Given the description of an element on the screen output the (x, y) to click on. 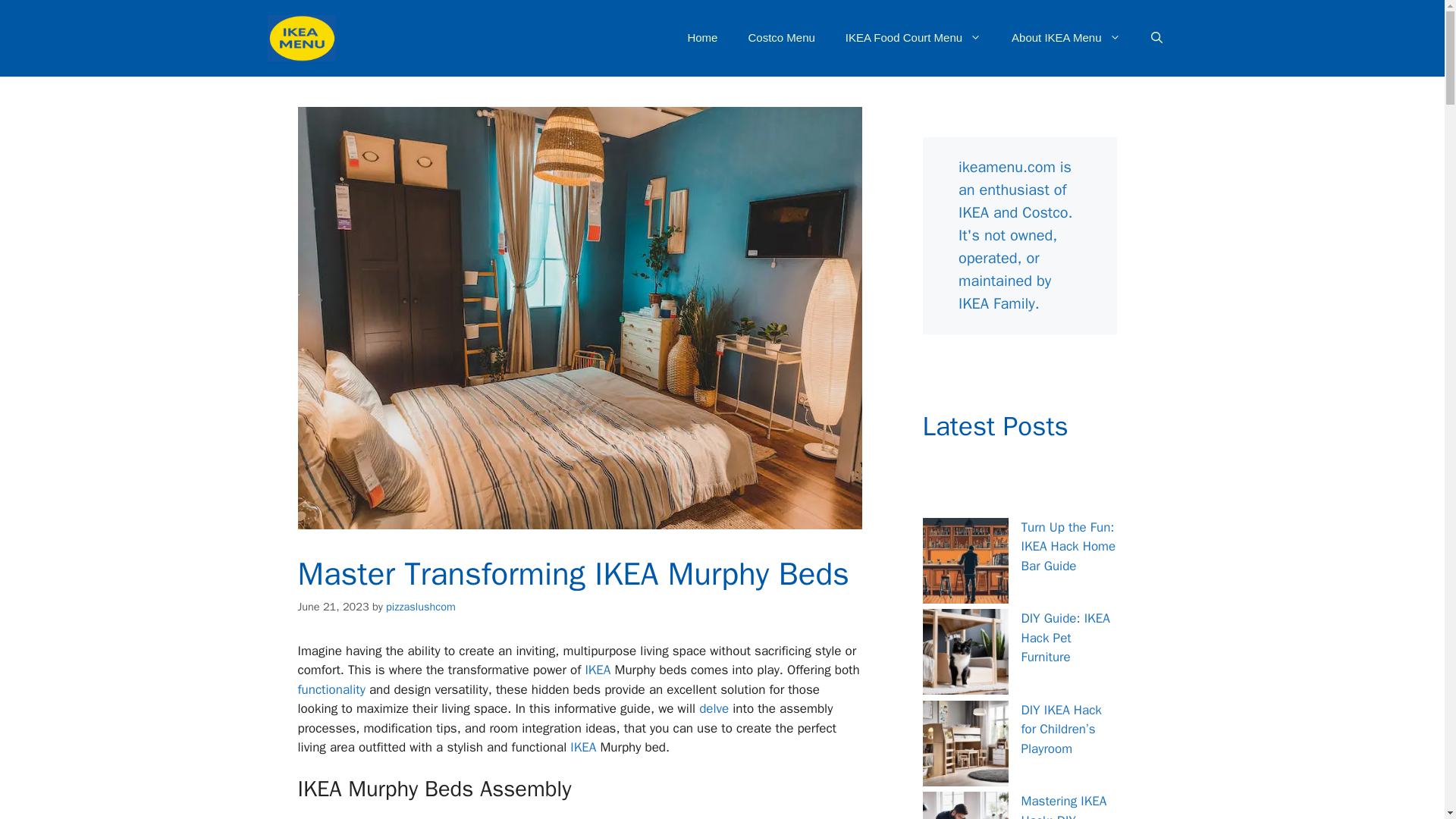
functionality (331, 689)
IKEA (597, 669)
pizzaslushcom (420, 606)
View all posts by pizzaslushcom (420, 606)
About IKEA Menu (1065, 37)
Home (701, 37)
IKEA (582, 747)
IKEA Food Court Menu (912, 37)
Costco Menu (780, 37)
delve (713, 708)
